Given the description of an element on the screen output the (x, y) to click on. 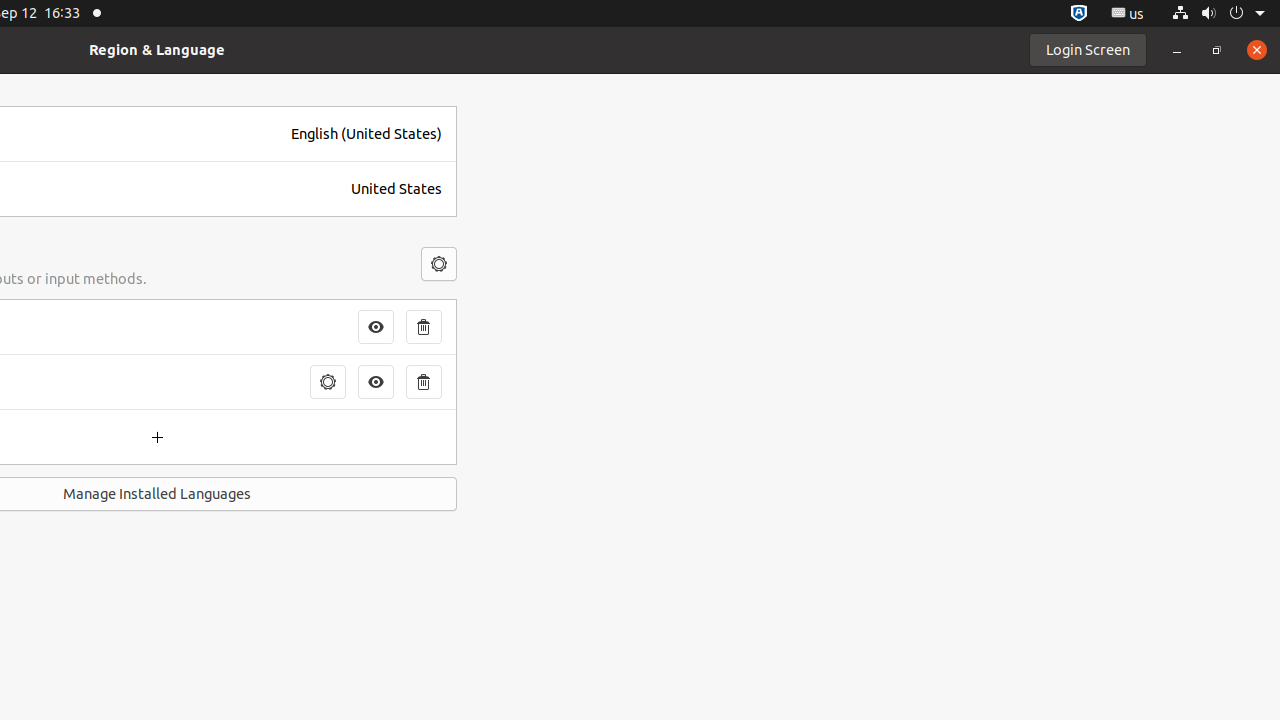
Close Element type: push-button (1257, 50)
Region & Language Element type: label (157, 49)
Restore Element type: push-button (1217, 50)
Minimize Element type: push-button (1177, 50)
